Given the description of an element on the screen output the (x, y) to click on. 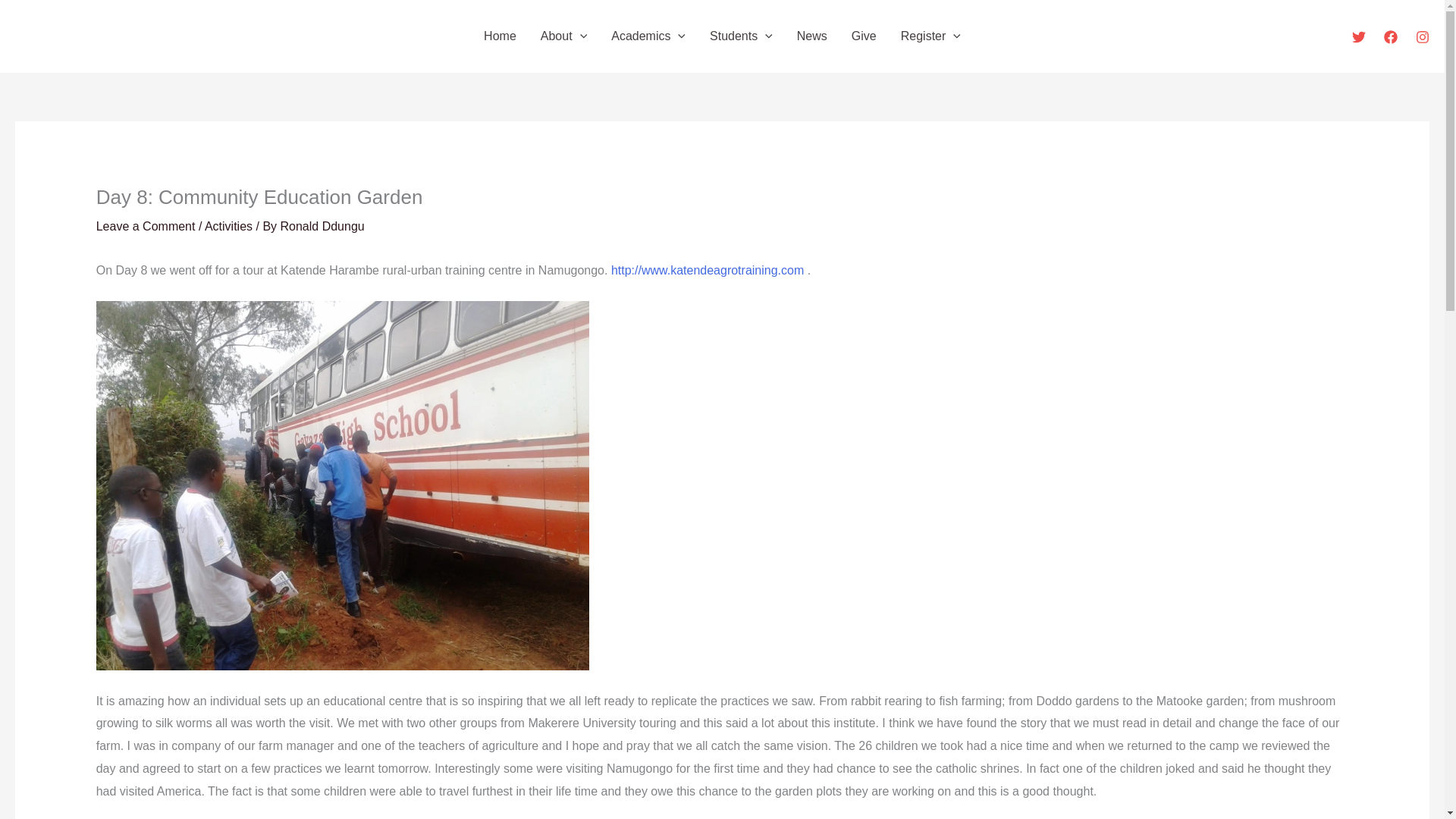
Students (740, 36)
Academics (647, 36)
View all posts by Ronald Ddungu (323, 226)
Register (930, 36)
Leave a Comment (145, 226)
Activities (228, 226)
About (563, 36)
Ronald Ddungu (323, 226)
